Given the description of an element on the screen output the (x, y) to click on. 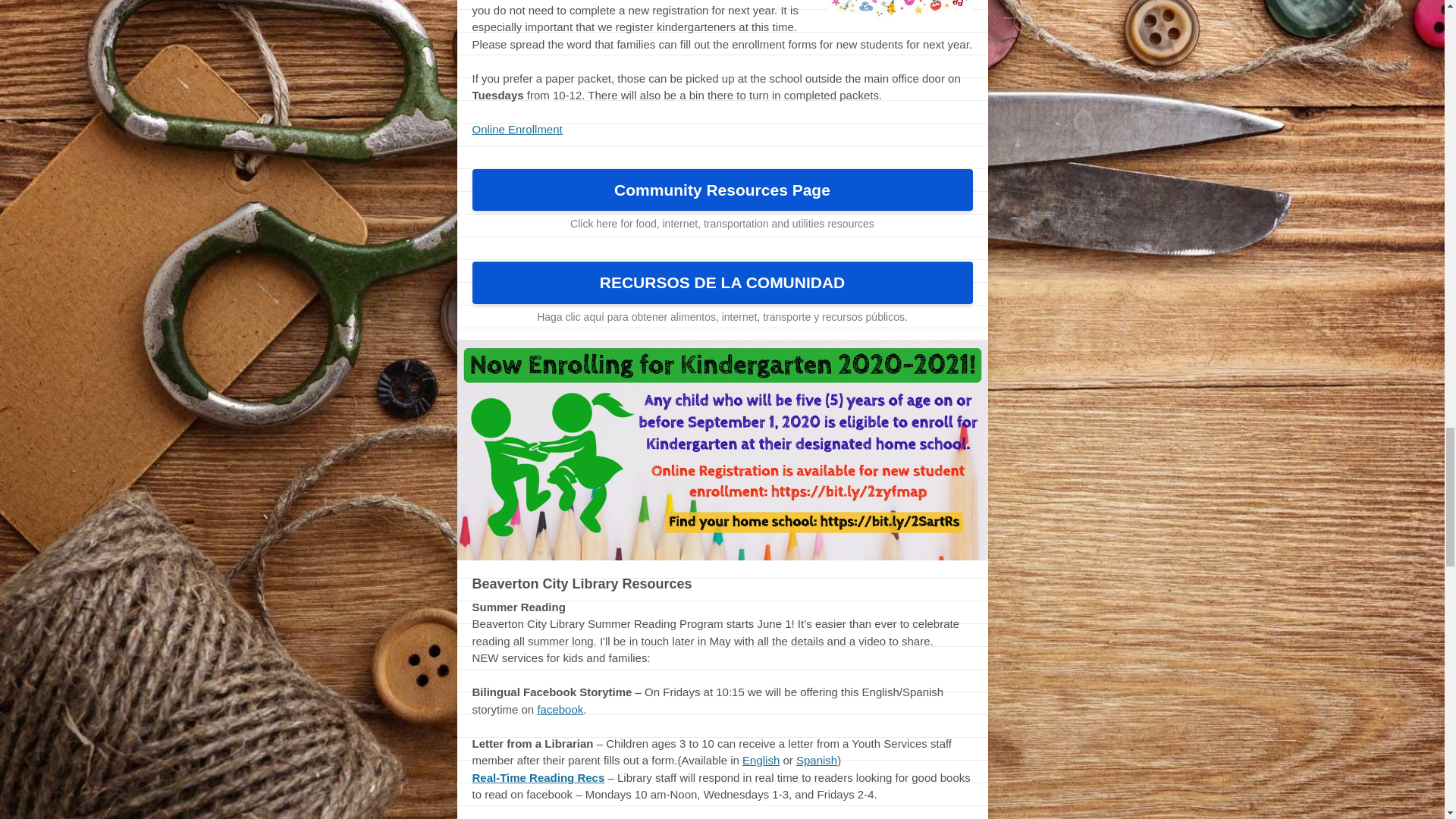
RECURSOS DE LA COMUNIDAD (721, 282)
Community Resources Page (721, 189)
Online Enrollment (516, 128)
English (760, 759)
Spanish (816, 759)
facebook (560, 708)
Real-Time Reading Recs (537, 777)
